Given the description of an element on the screen output the (x, y) to click on. 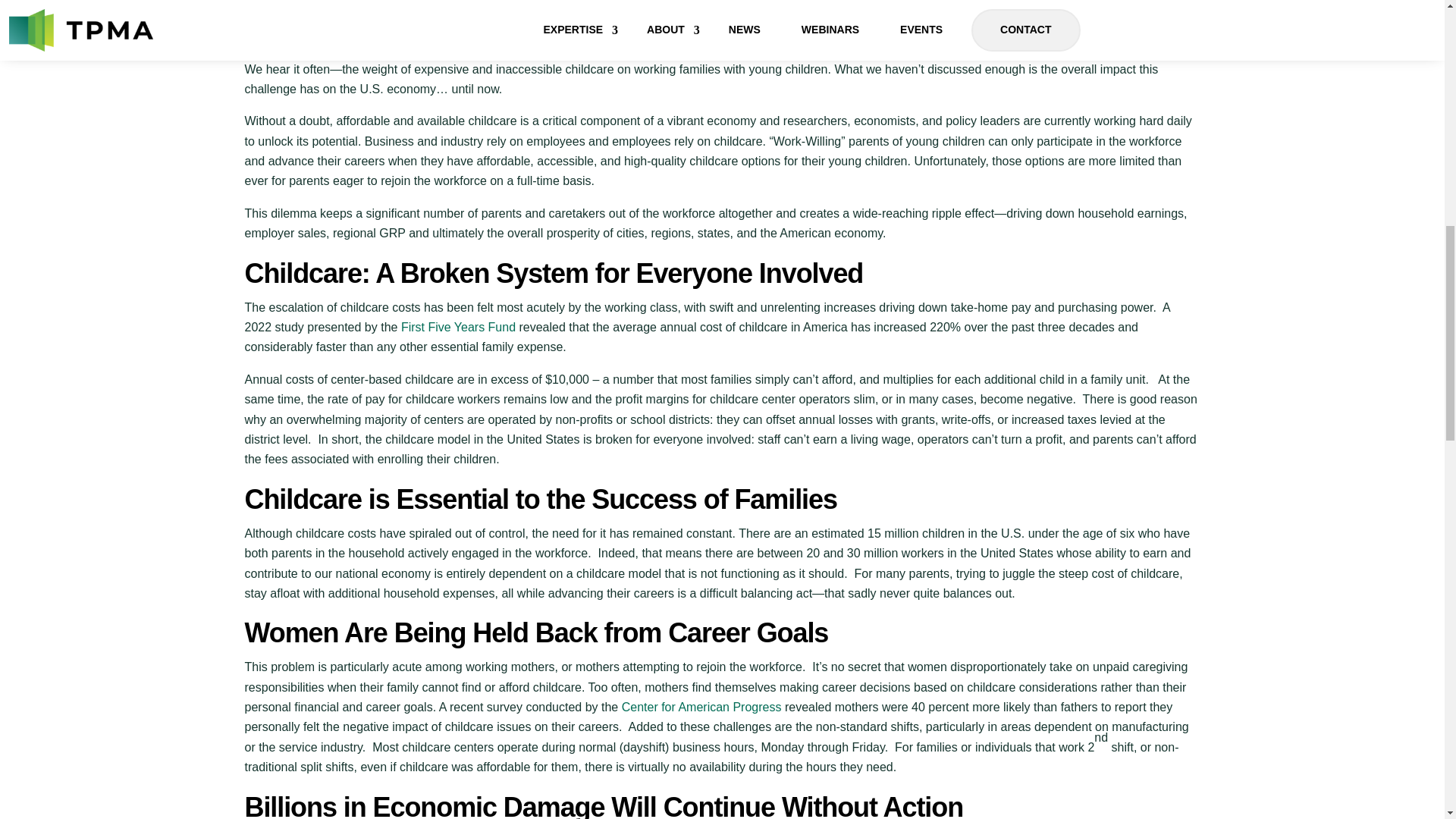
First Five Years Fund (458, 327)
Center for American Progress (701, 707)
